Given the description of an element on the screen output the (x, y) to click on. 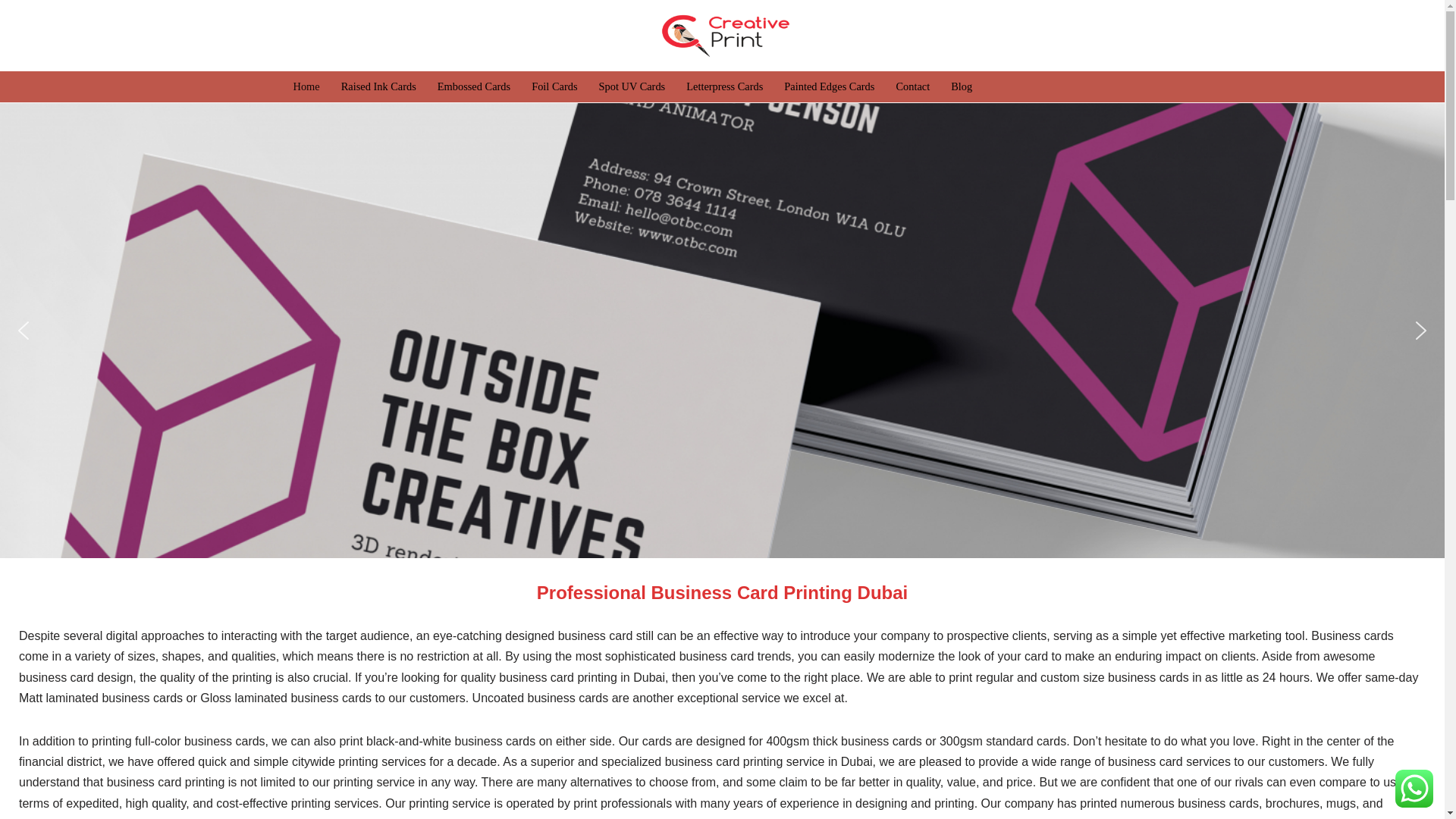
Contact (912, 86)
Foil Cards (553, 86)
Letterpress Cards (723, 86)
Embossed Cards (474, 86)
Spot UV Cards (631, 86)
Home (305, 86)
Blog (961, 86)
Raised Ink Cards (378, 86)
Skip to content (11, 31)
Painted Edges Cards (829, 86)
